Given the description of an element on the screen output the (x, y) to click on. 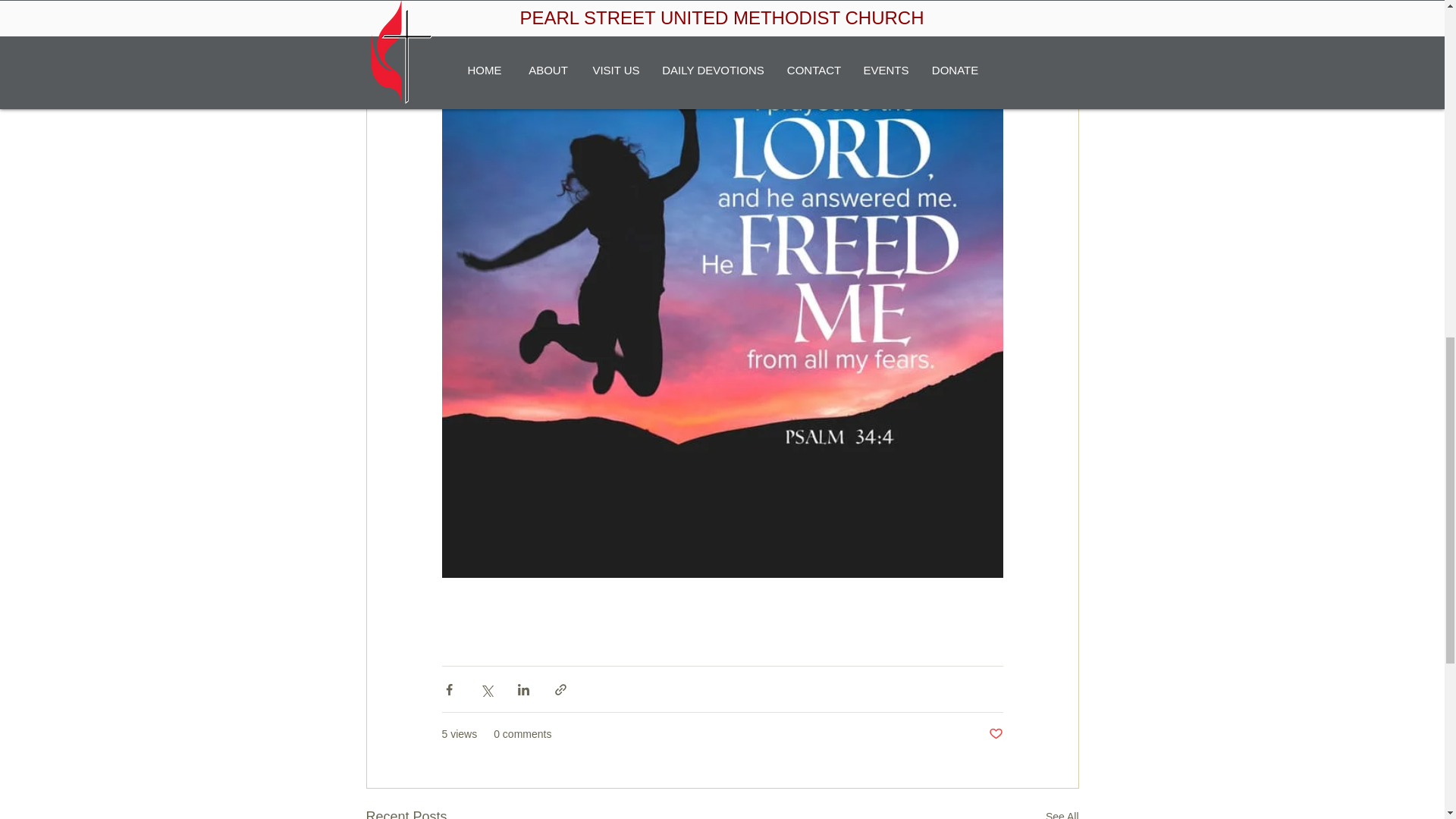
Post not marked as liked (995, 734)
See All (1061, 812)
